Given the description of an element on the screen output the (x, y) to click on. 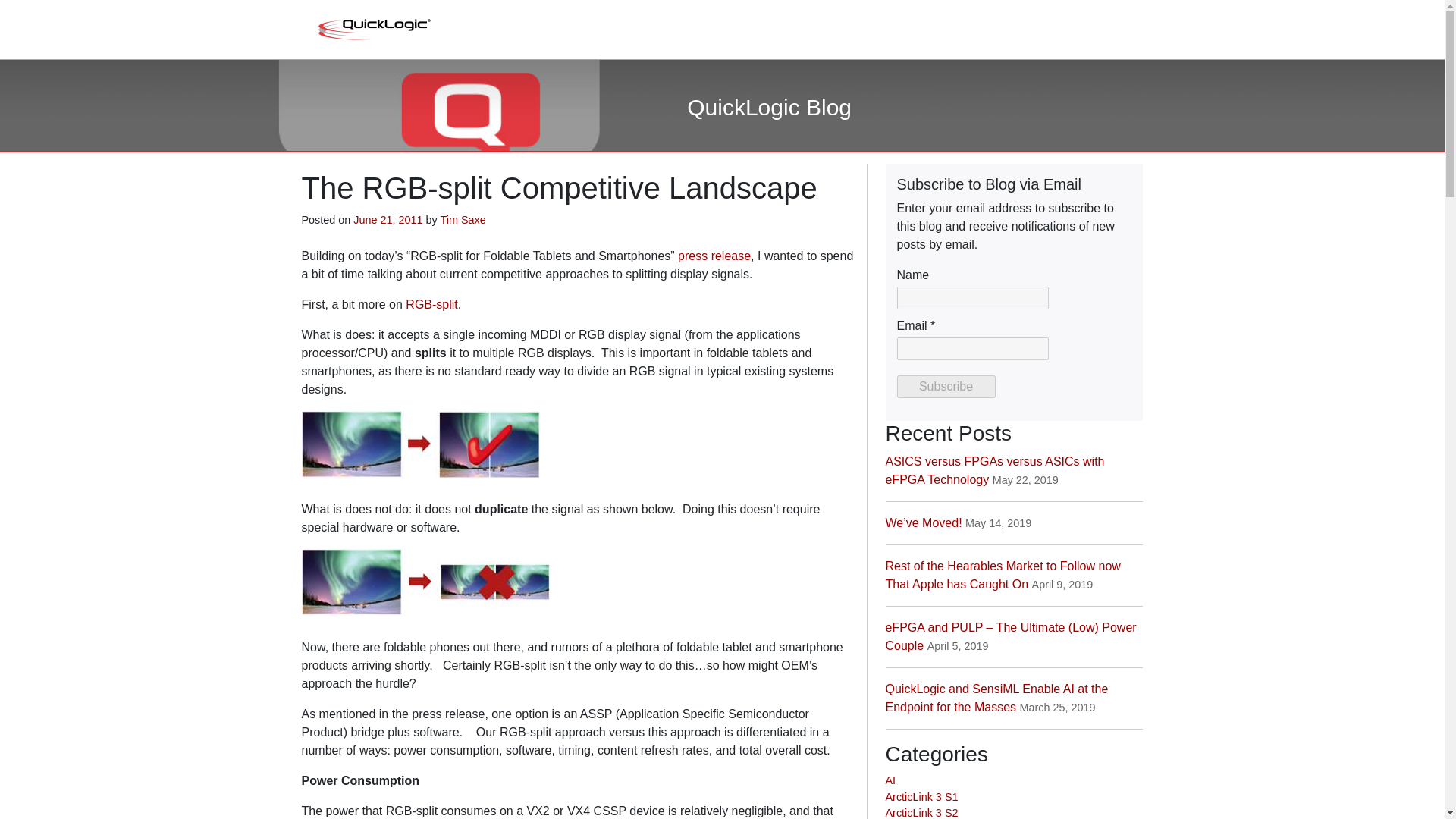
press release (714, 255)
RGB-split yes (420, 449)
June 21, 2011 (387, 219)
RGB-split no (425, 587)
Subscribe (945, 386)
Tim Saxe (461, 219)
RGB-split (431, 304)
